Given the description of an element on the screen output the (x, y) to click on. 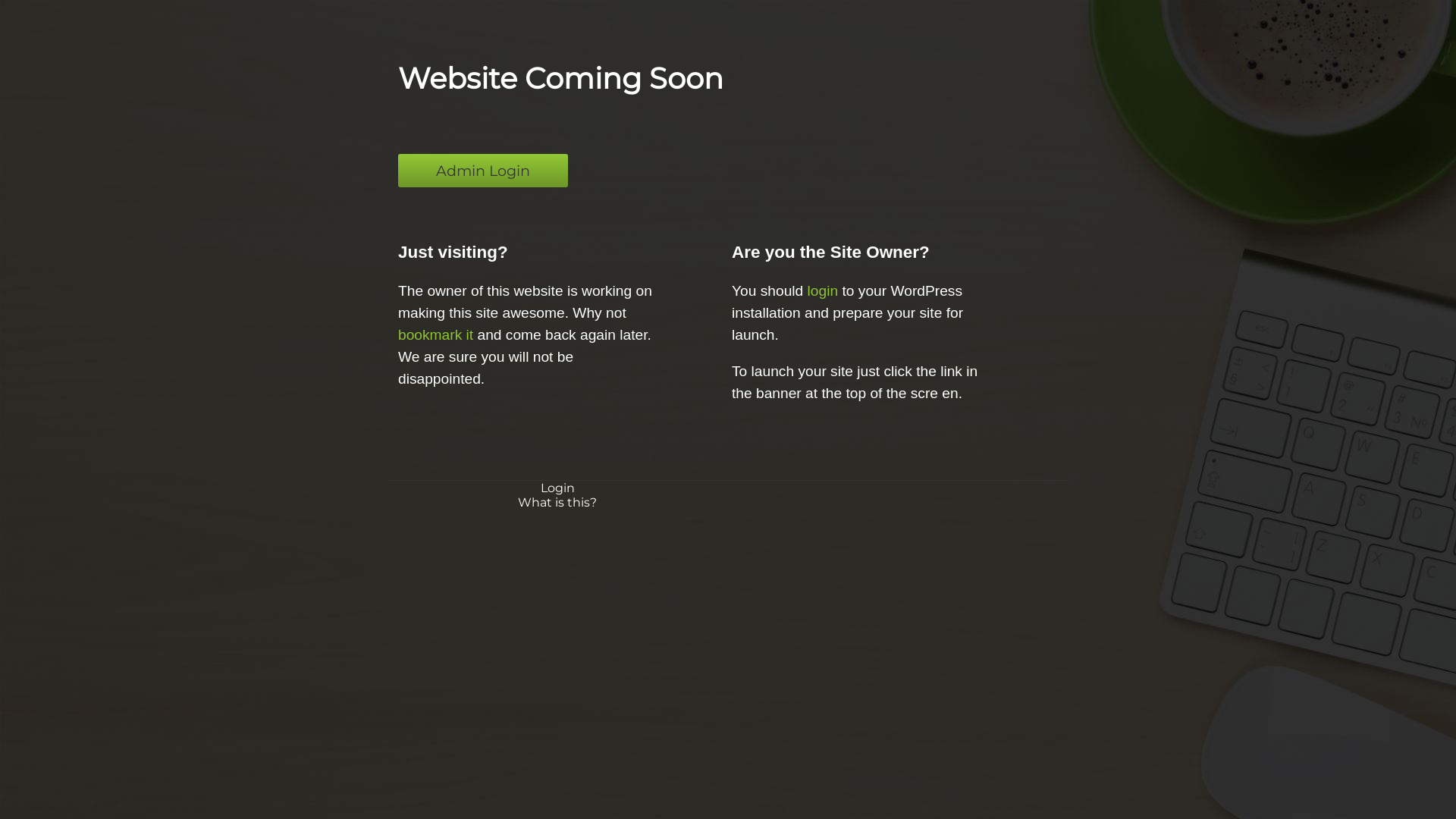
login Element type: text (822, 290)
bookmark it Element type: text (435, 334)
Admin Login Element type: text (482, 170)
Login Element type: text (557, 487)
What is this? Element type: text (557, 502)
